Given the description of an element on the screen output the (x, y) to click on. 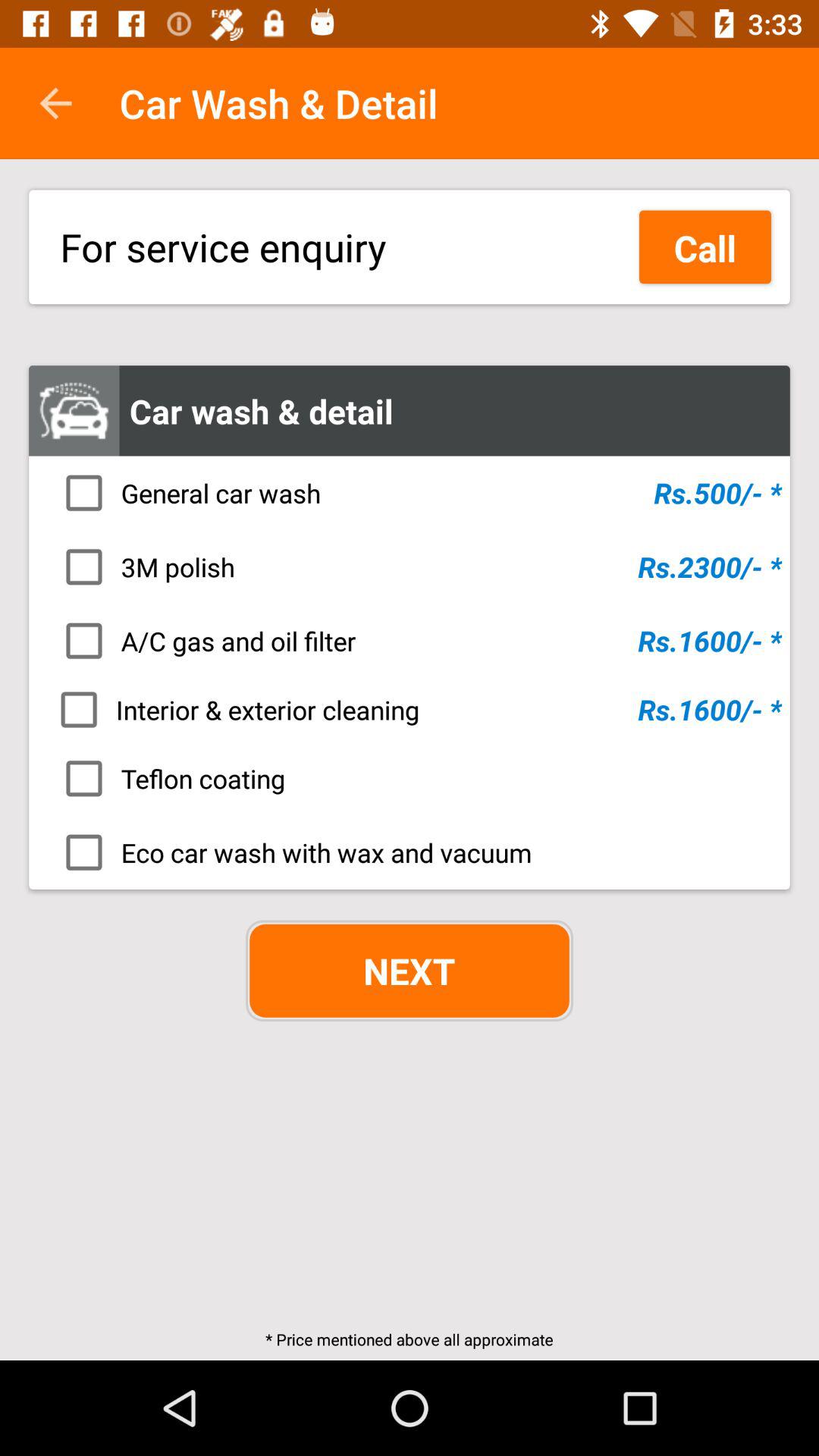
click item above the price mentioned above (409, 970)
